Given the description of an element on the screen output the (x, y) to click on. 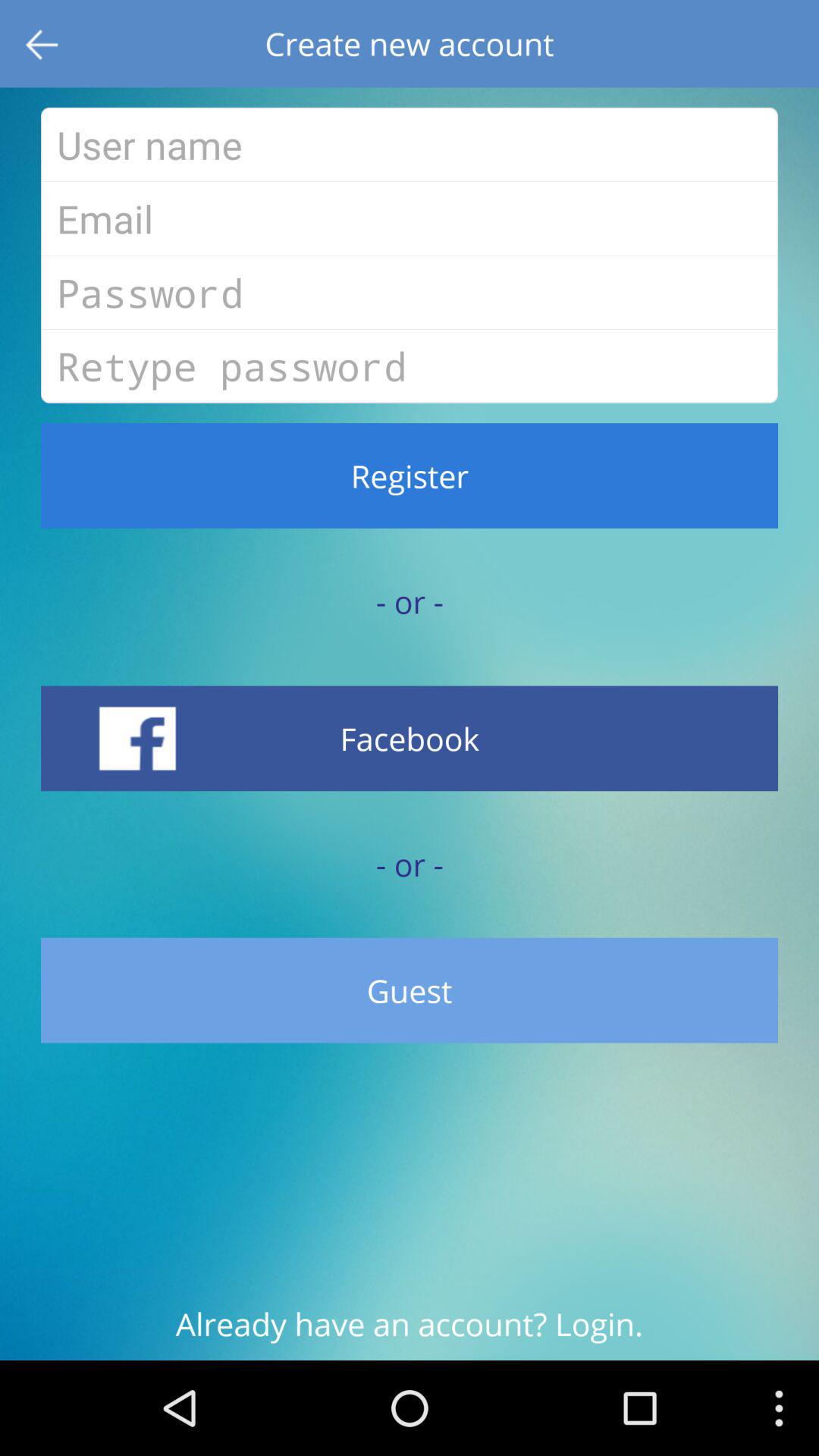
tap icon below the - or - item (409, 738)
